Given the description of an element on the screen output the (x, y) to click on. 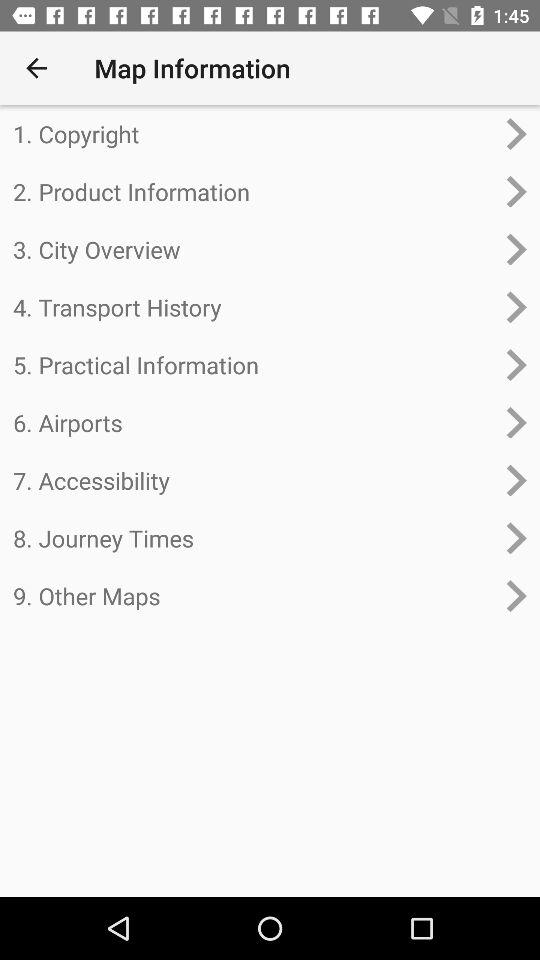
flip until 8. journey times item (253, 538)
